Given the description of an element on the screen output the (x, y) to click on. 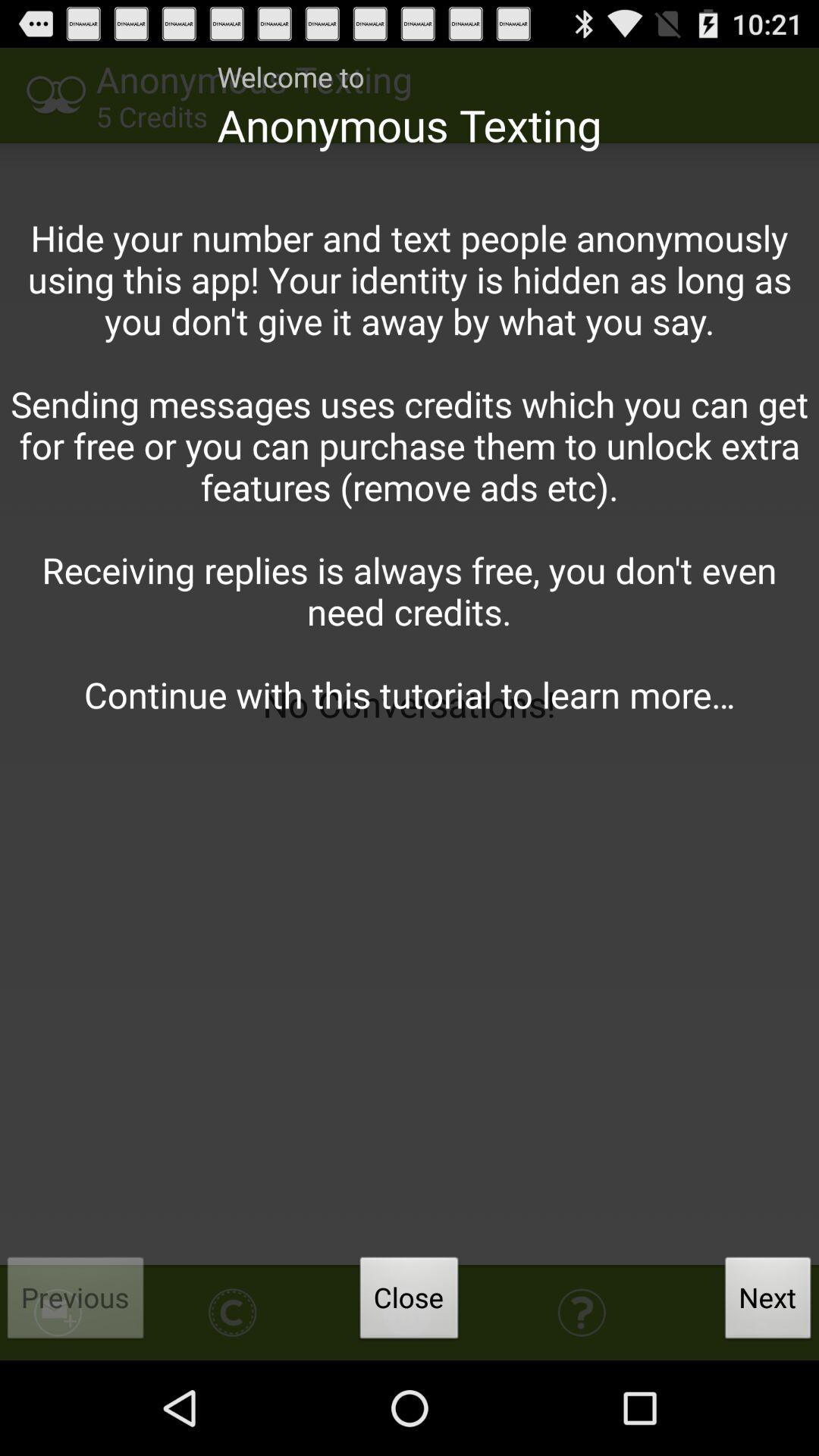
tap next at the bottom right corner (768, 1302)
